Given the description of an element on the screen output the (x, y) to click on. 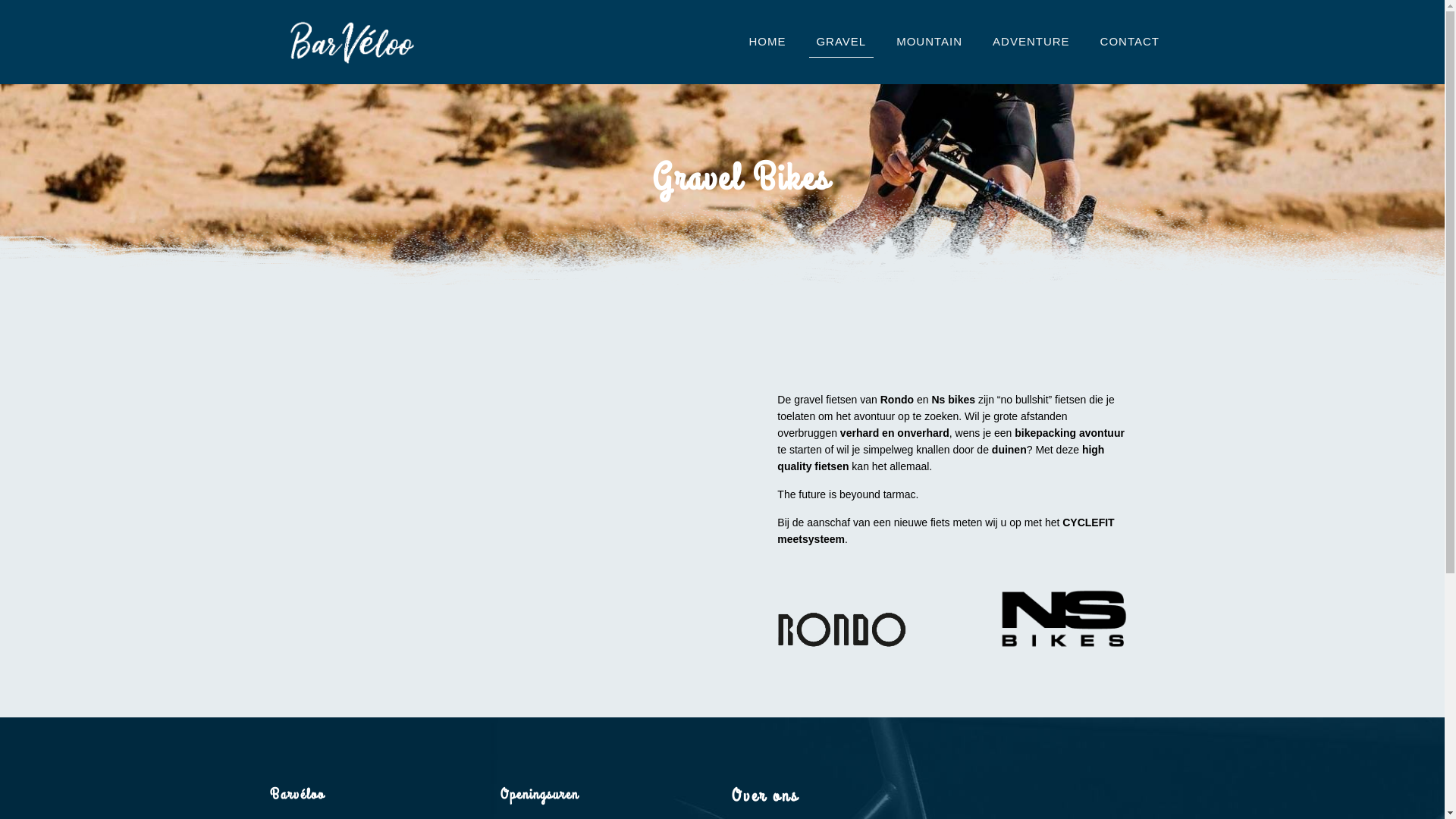
HOME Element type: text (766, 41)
GRAVEL Element type: text (840, 41)
MOUNTAIN Element type: text (929, 41)
CONTACT Element type: text (1129, 41)
ADVENTURE Element type: text (1031, 41)
